Given the description of an element on the screen output the (x, y) to click on. 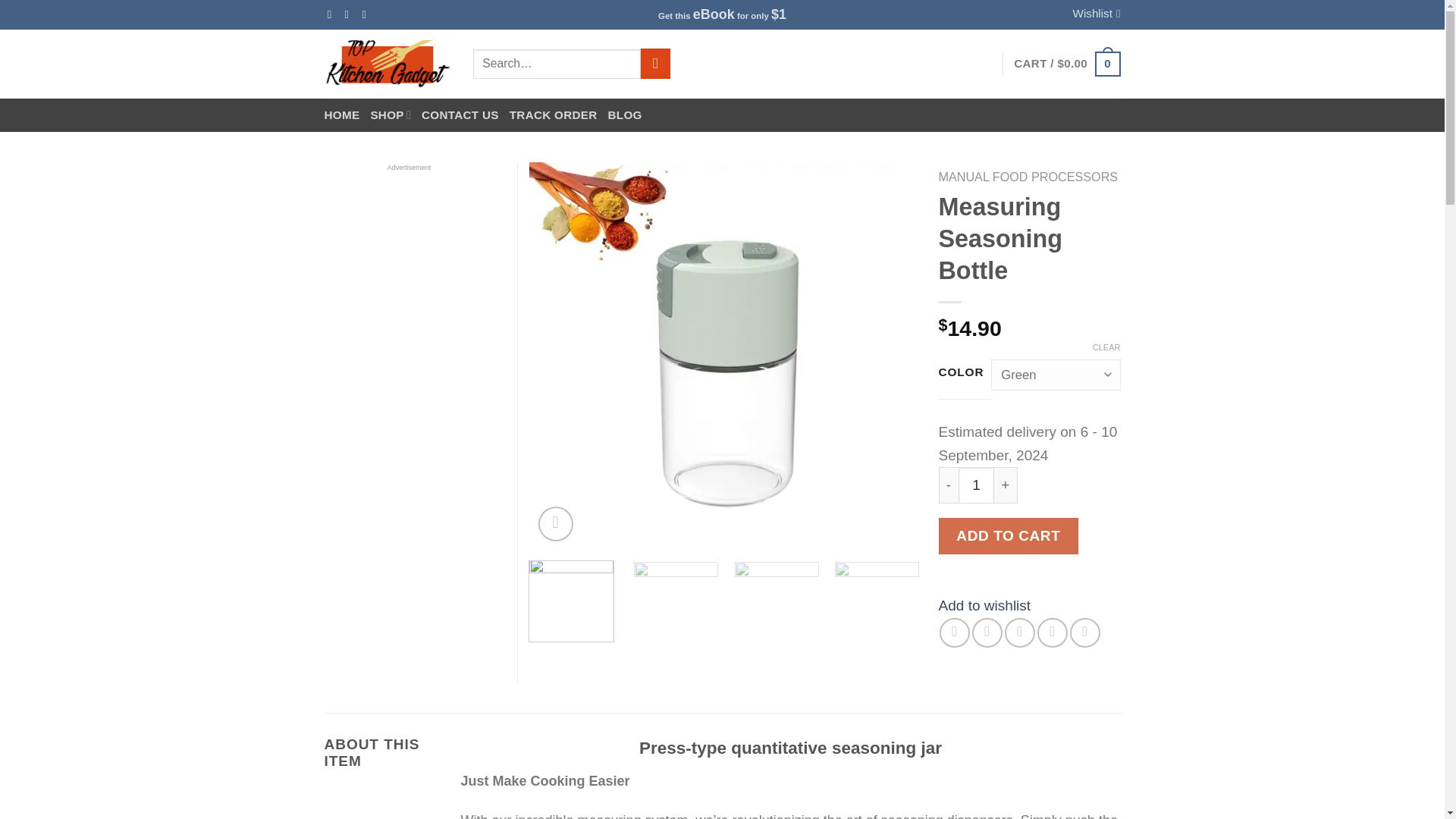
Cart (1066, 63)
CONTACT US (460, 114)
Search (654, 63)
SHOP (389, 114)
Wishlist (1097, 13)
BLOG (625, 114)
HOME (341, 114)
TRACK ORDER (552, 114)
